Given the description of an element on the screen output the (x, y) to click on. 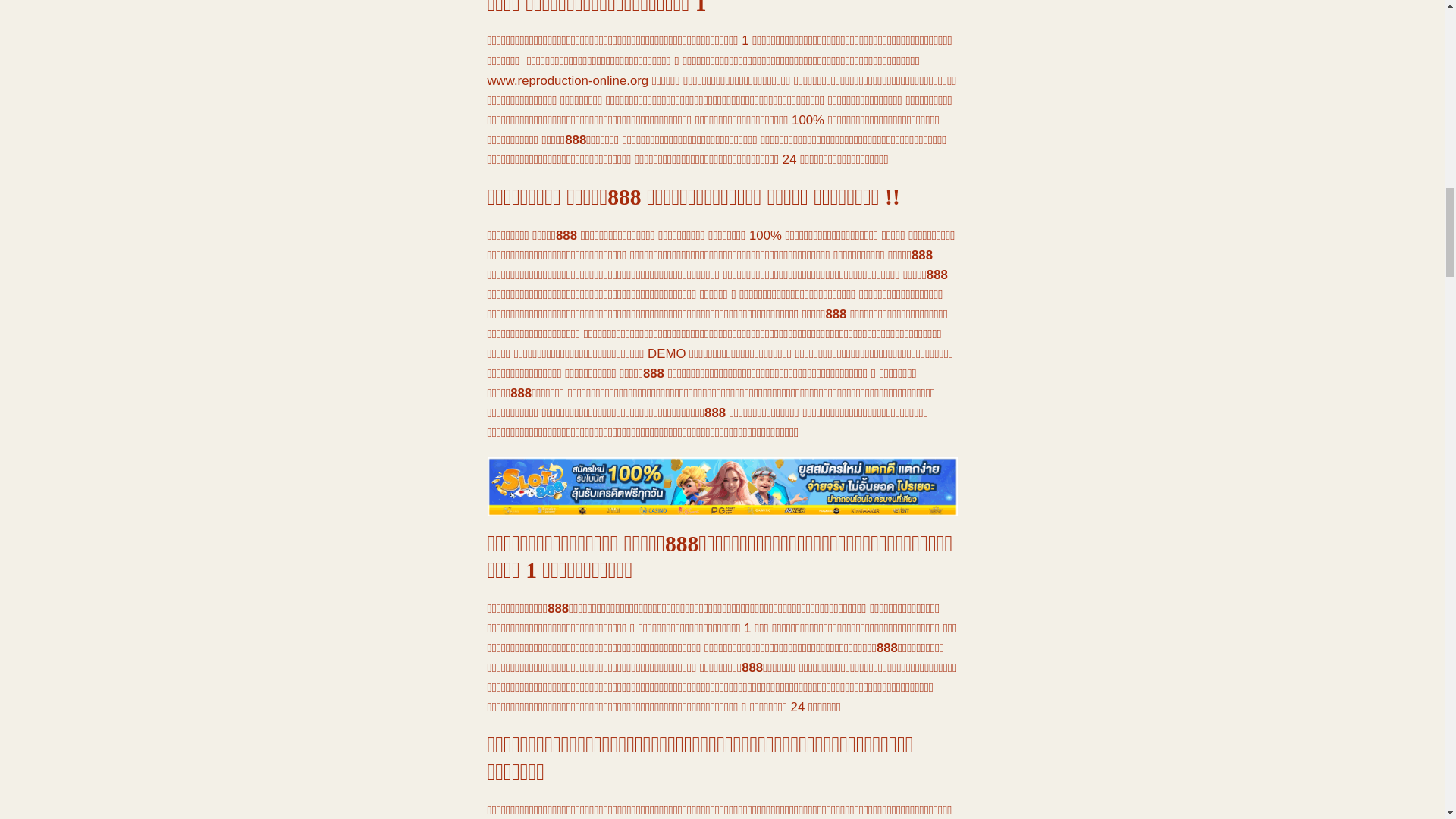
www.reproduction-online.org (566, 80)
